Given the description of an element on the screen output the (x, y) to click on. 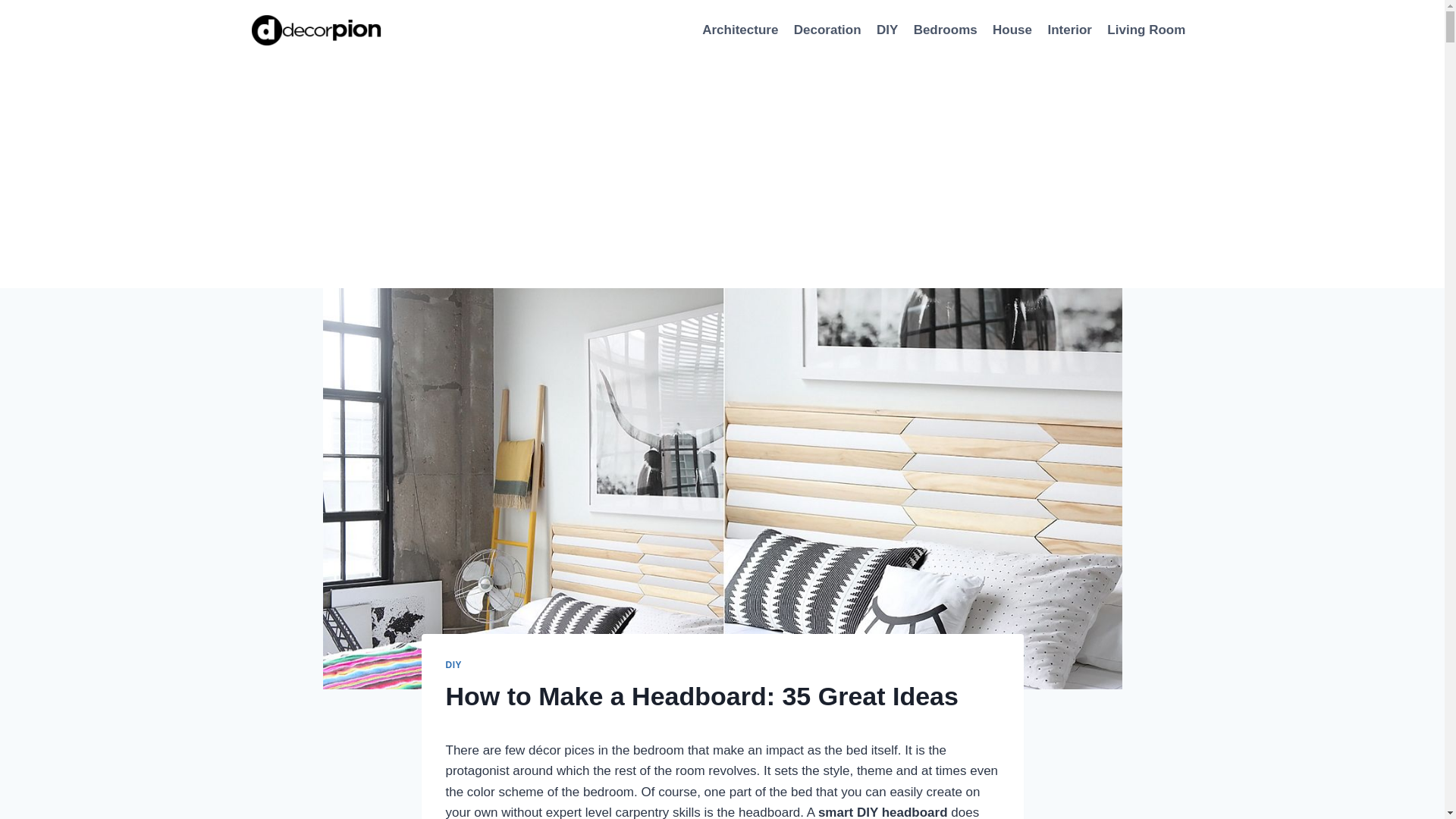
Architecture (740, 30)
House (1012, 30)
DIY (887, 30)
Living Room (1145, 30)
Decoration (827, 30)
Bedrooms (944, 30)
DIY (454, 665)
Interior (1069, 30)
